Given the description of an element on the screen output the (x, y) to click on. 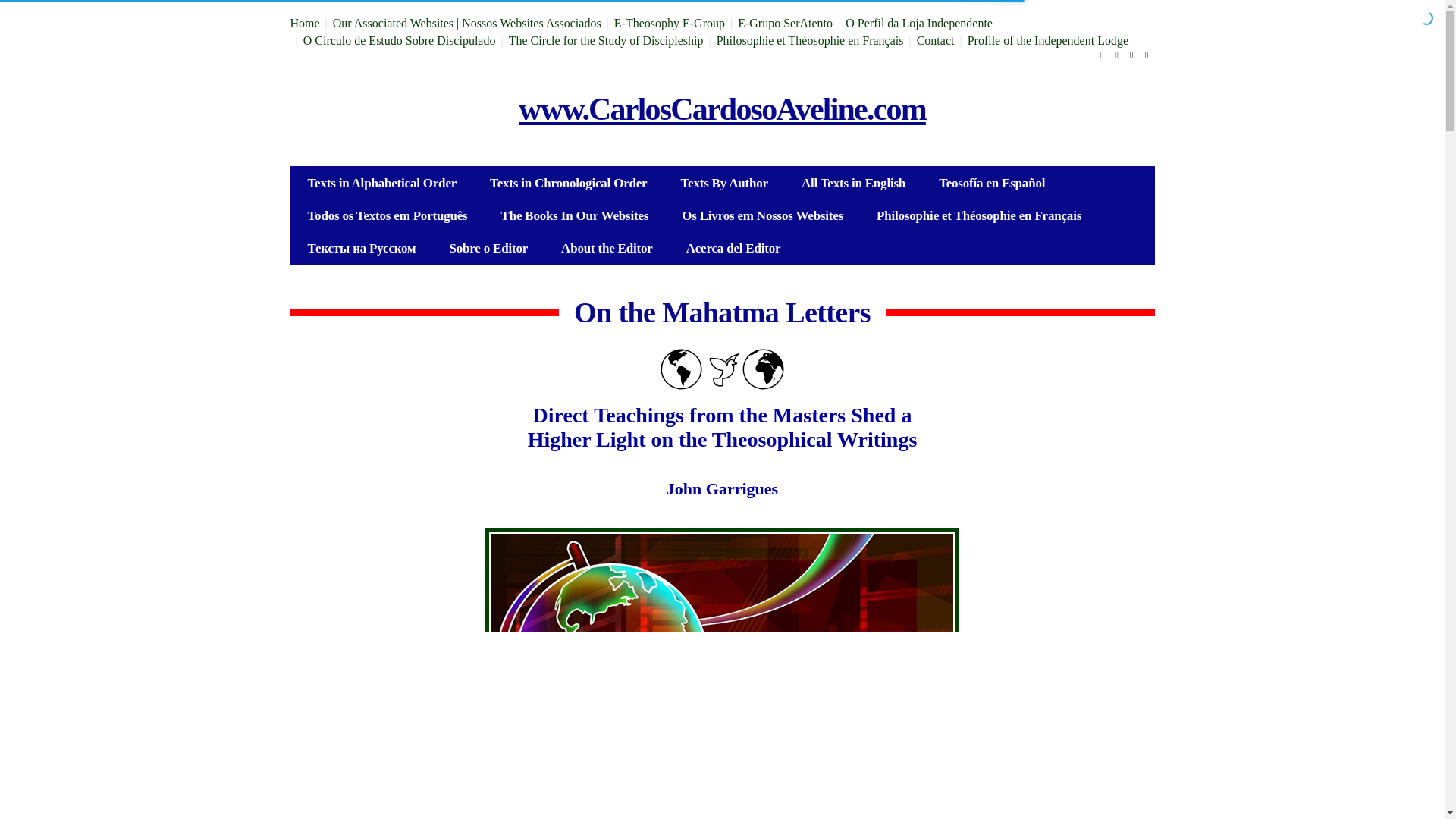
All Texts in English (852, 183)
O Perfil da Loja Independente (918, 22)
Texts in Alphabetical Order (382, 183)
Profile of the Independent Lodge (1048, 40)
The Circle for the Study of Discipleship (605, 40)
Texts in Chronological Order (568, 183)
Os Livros em Nossos Websites (762, 215)
About the Editor (606, 247)
Texts By Author (723, 183)
The Books In Our Websites (574, 215)
E-Grupo SerAtento (785, 22)
Home (303, 22)
Acerca del Editor (733, 247)
www.CarlosCardosoAveline.com (722, 109)
Contact (936, 40)
